Given the description of an element on the screen output the (x, y) to click on. 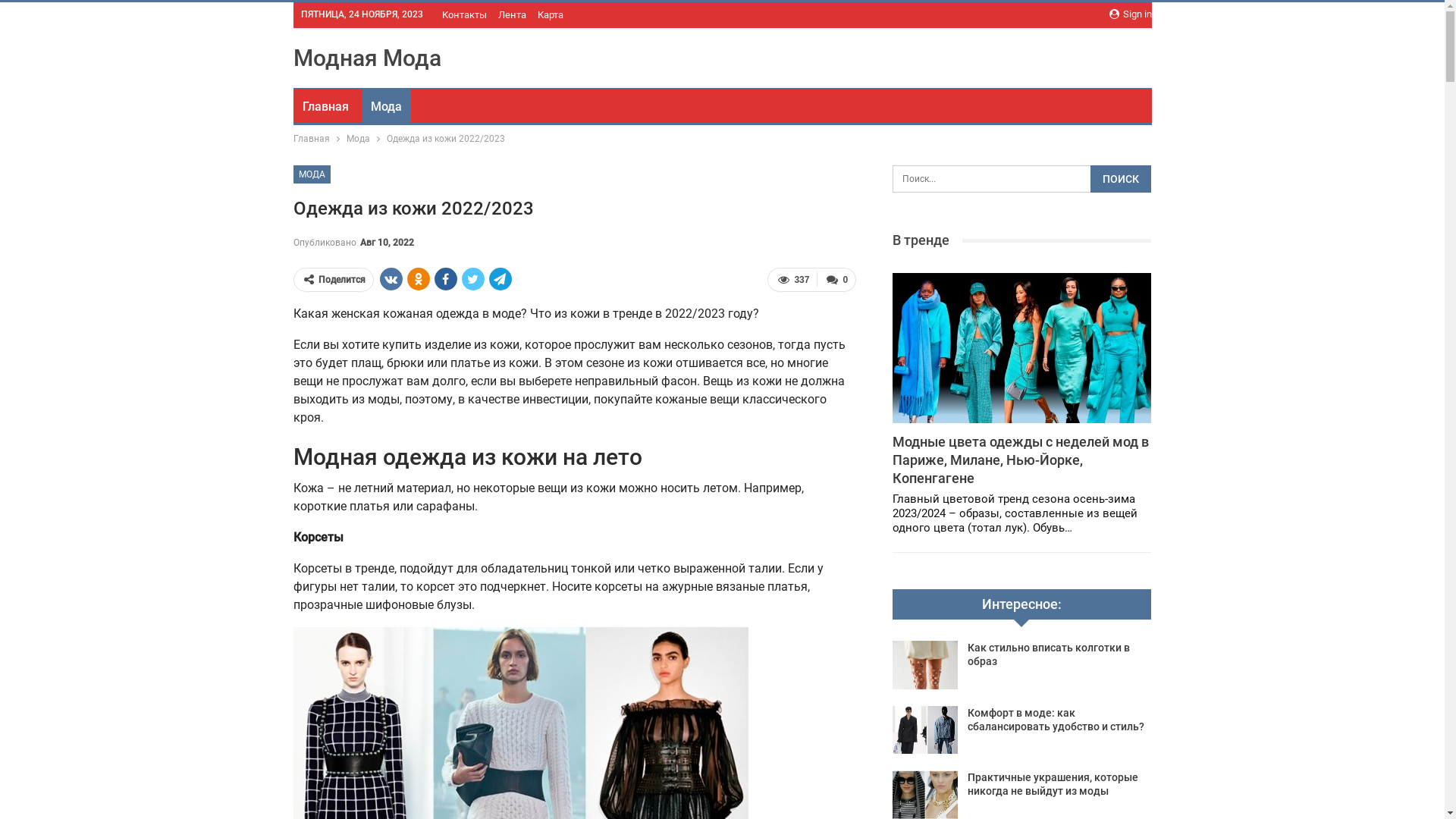
Sign in Element type: text (1129, 14)
0 Element type: text (836, 279)
